Given the description of an element on the screen output the (x, y) to click on. 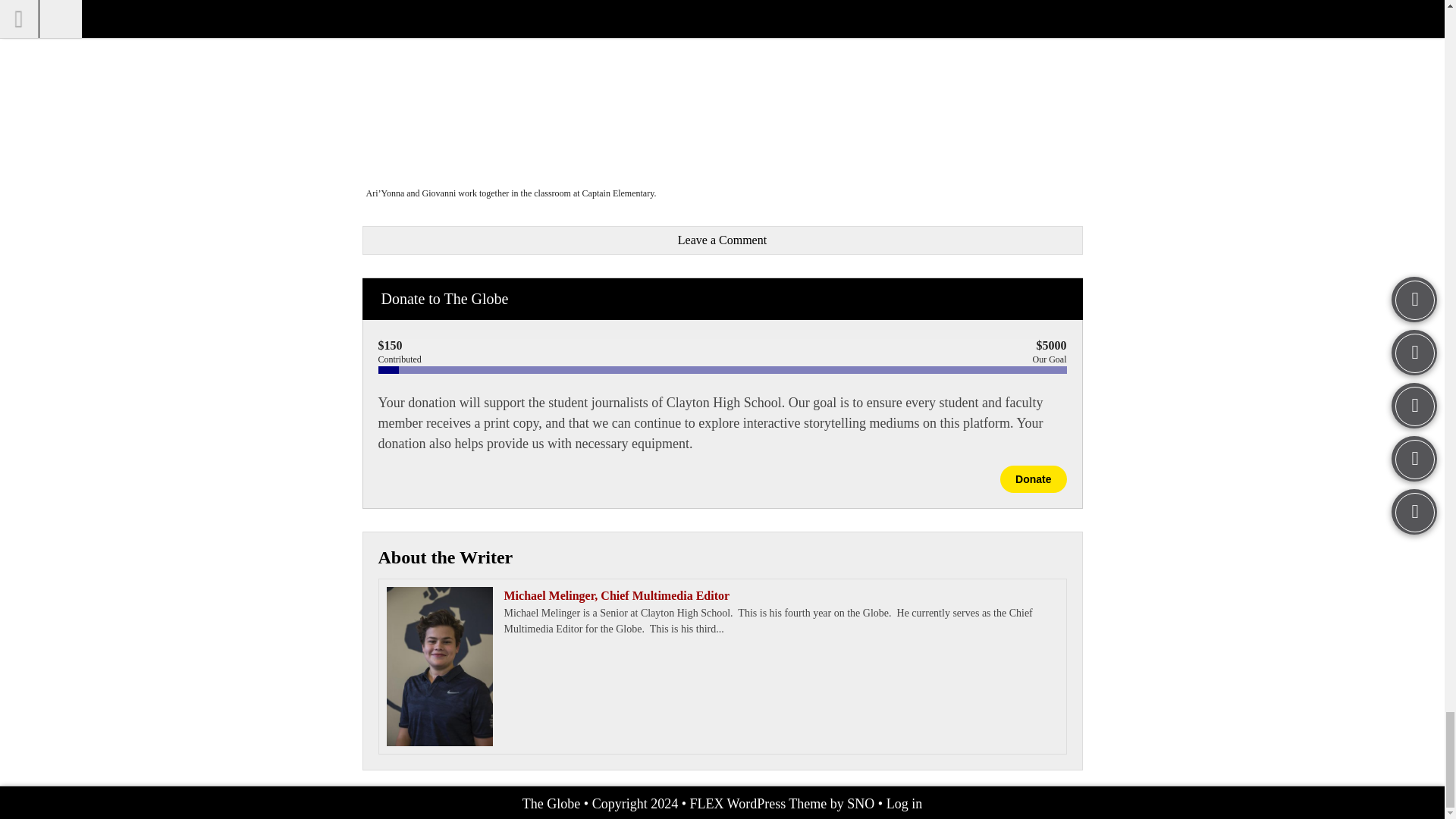
FLEX WordPress Theme (757, 803)
Michael Melinger, Chief Multimedia Editor (722, 596)
Donate (1032, 479)
The Globe (550, 803)
SNO (861, 803)
Log in (904, 803)
